Given the description of an element on the screen output the (x, y) to click on. 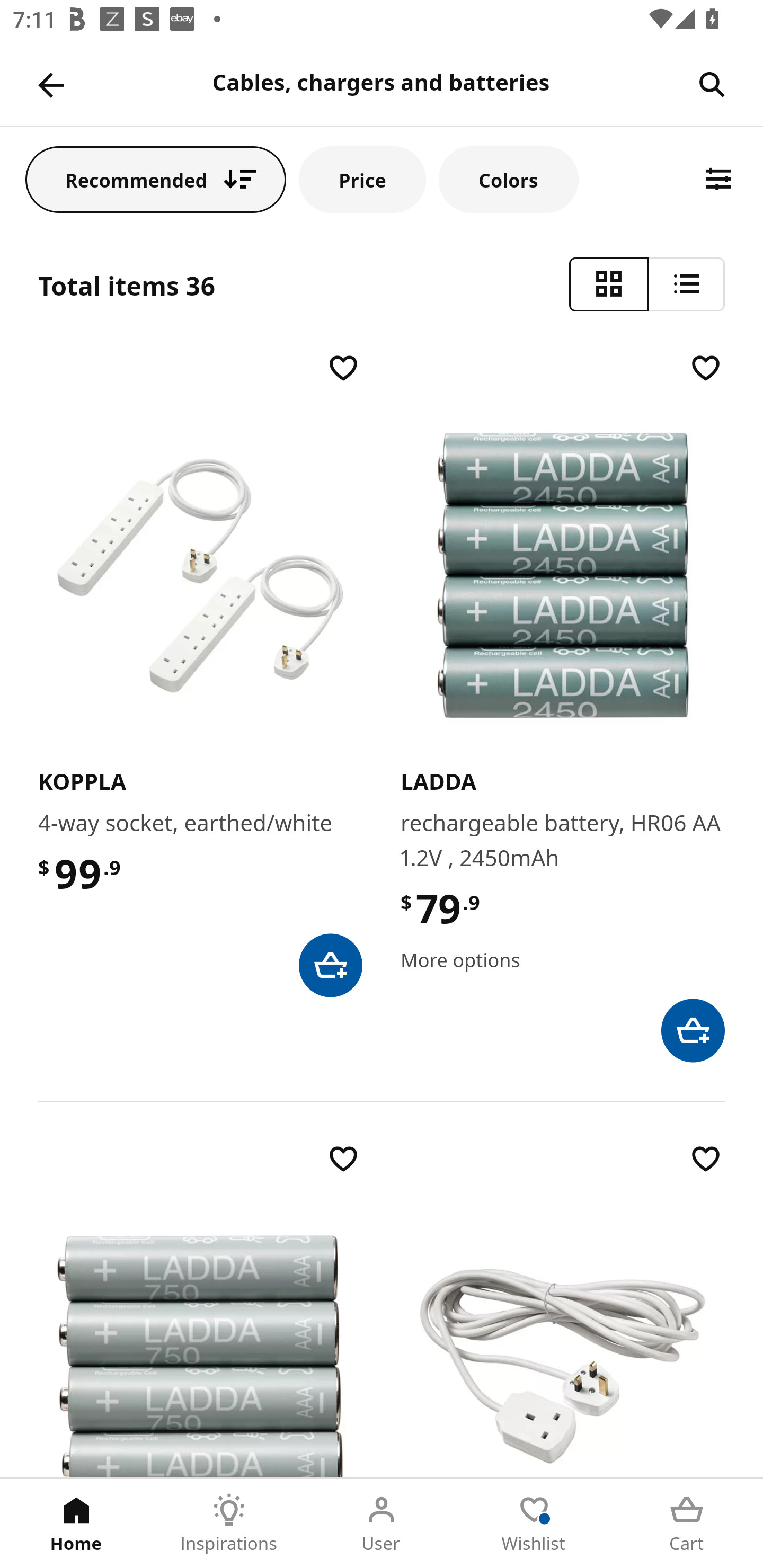
Recommended (155, 179)
Price (362, 179)
Colors (508, 179)
​K​O​P​P​L​A​
4-way socket, earthed/white
$
99
.9 (200, 673)
Home
Tab 1 of 5 (76, 1522)
Inspirations
Tab 2 of 5 (228, 1522)
User
Tab 3 of 5 (381, 1522)
Wishlist
Tab 4 of 5 (533, 1522)
Cart
Tab 5 of 5 (686, 1522)
